Given the description of an element on the screen output the (x, y) to click on. 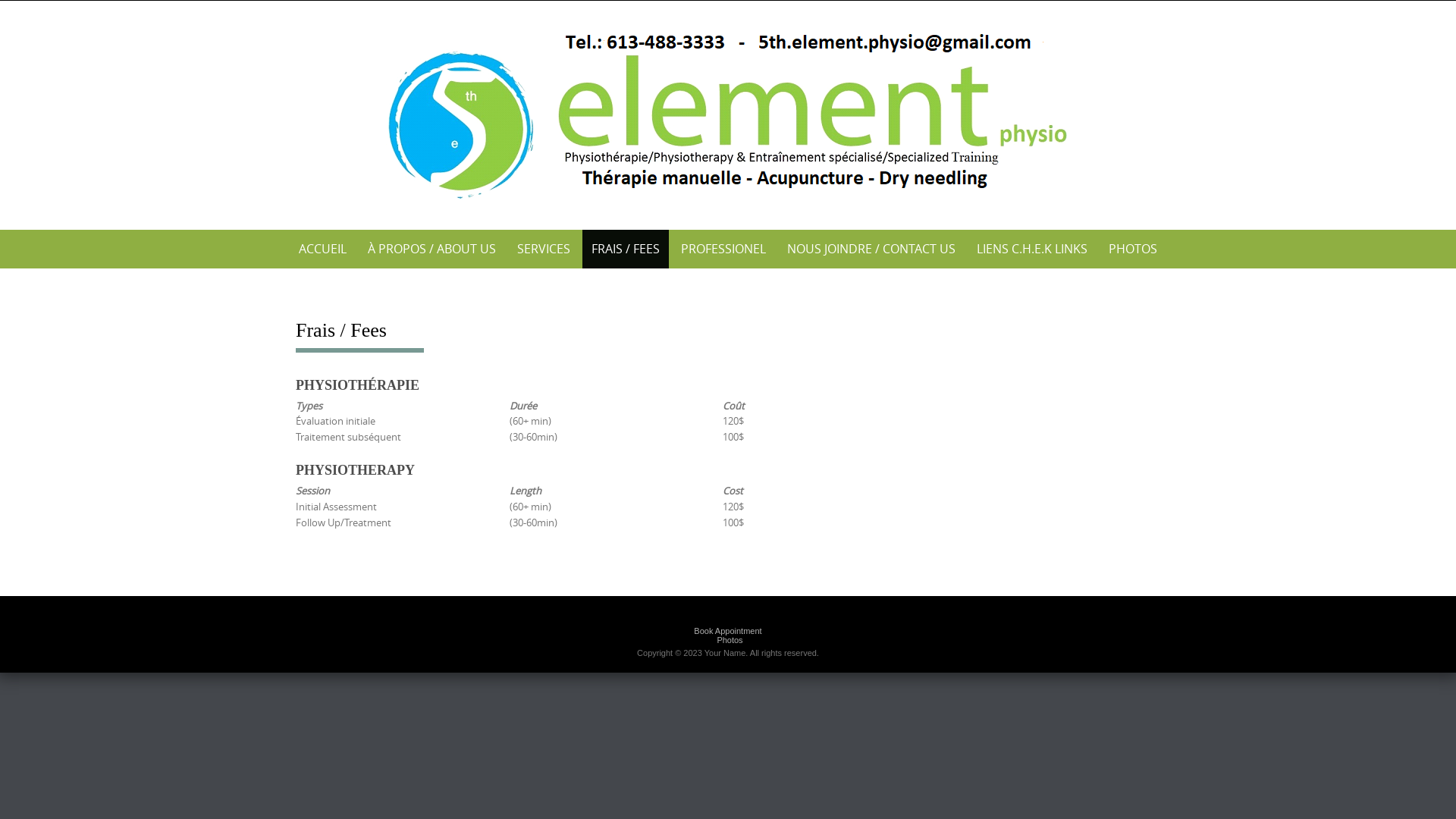
SERVICES Element type: text (543, 248)
ACCUEIL Element type: text (322, 248)
Skip to content Element type: text (280, 229)
NOUS JOINDRE / CONTACT US Element type: text (871, 248)
Book Appointment Element type: text (727, 630)
FRAIS / FEES Element type: text (625, 248)
  Element type: hover (727, 112)
Skip to content Element type: text (0, 0)
PROFESSIONEL Element type: text (723, 248)
PHOTOS Element type: text (1132, 248)
Photos Element type: text (729, 639)
LIENS C.H.E.K LINKS Element type: text (1031, 248)
